Given the description of an element on the screen output the (x, y) to click on. 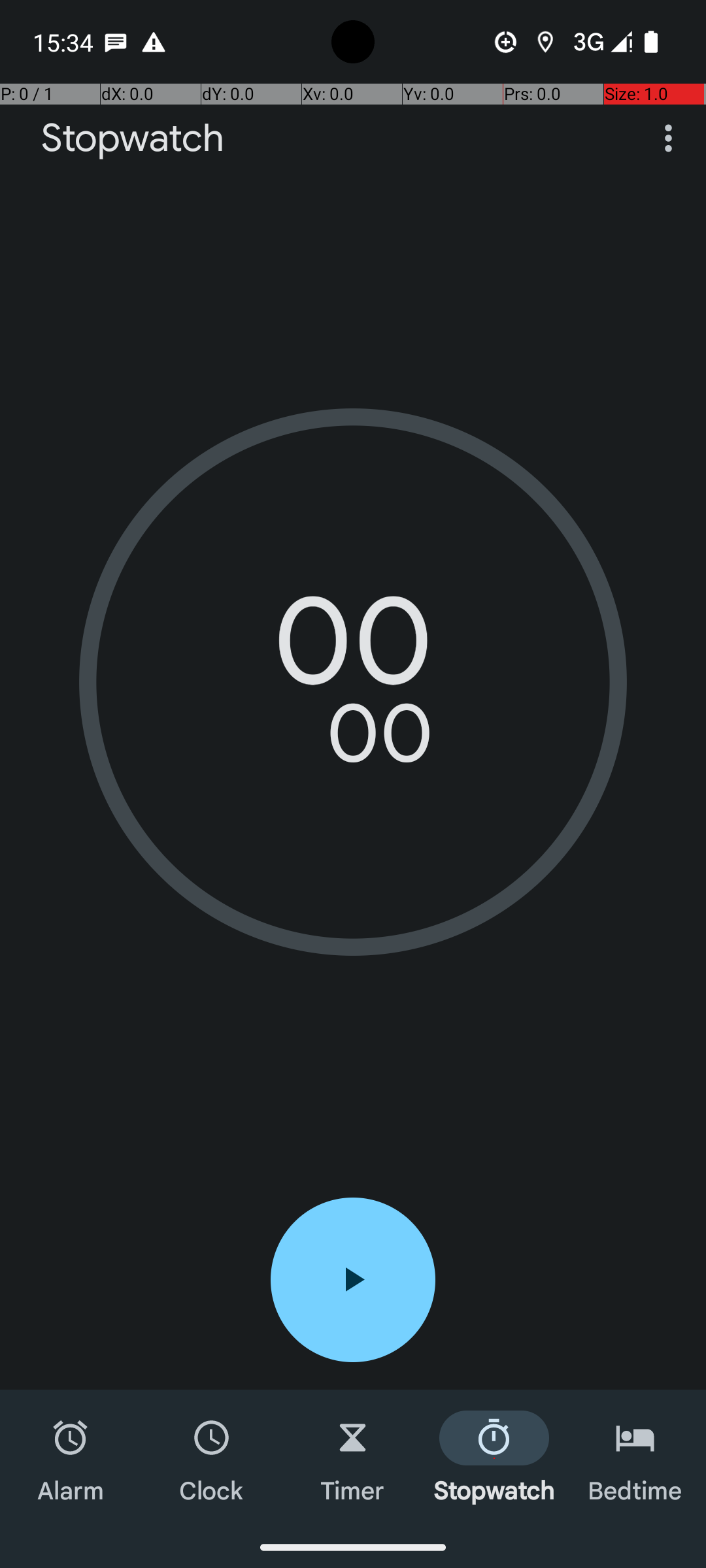
Stopwatch Element type: android.widget.TextView (132, 138)
Start Element type: android.widget.Button (352, 1279)
00 Element type: android.widget.TextView (352, 650)
Alarm Element type: android.widget.FrameLayout (70, 1457)
Clock Element type: android.widget.FrameLayout (211, 1457)
Timer Element type: android.widget.FrameLayout (352, 1457)
Bedtime Element type: android.widget.FrameLayout (635, 1457)
